Given the description of an element on the screen output the (x, y) to click on. 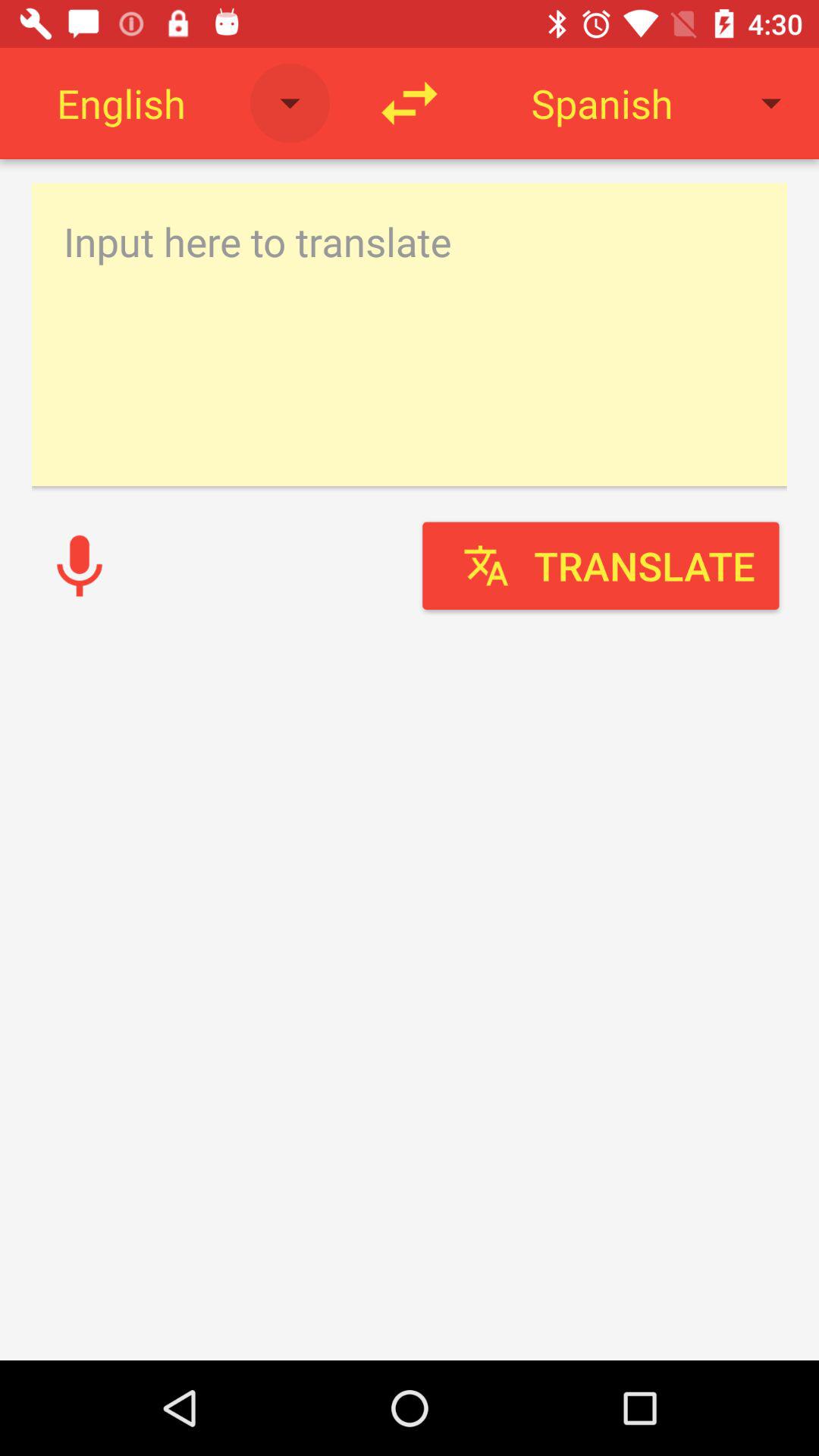
use microphone (79, 565)
